Given the description of an element on the screen output the (x, y) to click on. 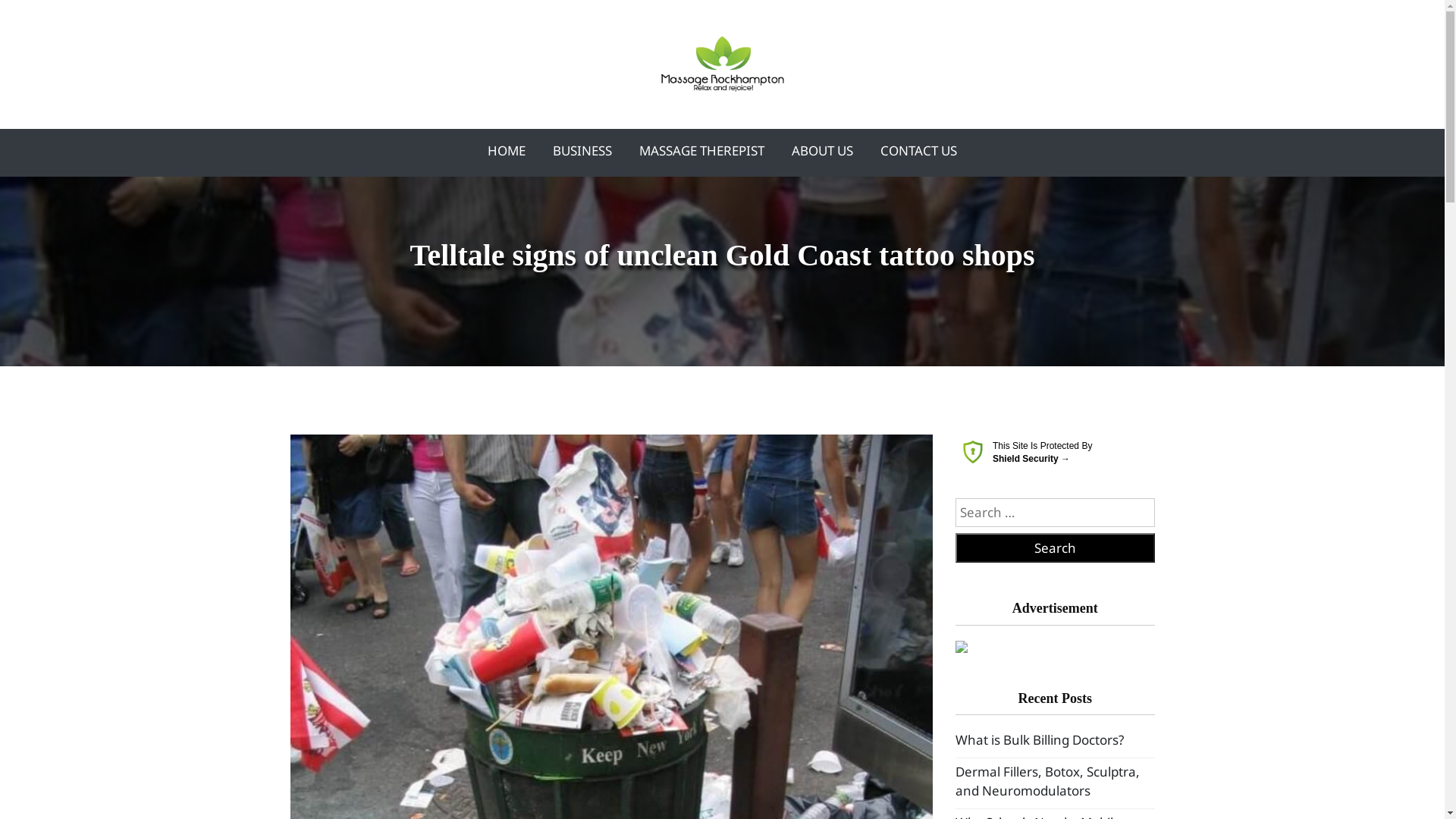
Search Element type: text (1054, 548)
ABOUT US Element type: text (822, 150)
Dermal Fillers, Botox, Sculptra, and Neuromodulators Element type: text (1047, 781)
HOME Element type: text (506, 150)
MASSAGE THEREPIST Element type: text (701, 150)
BUSINESS Element type: text (582, 150)
What is Bulk Billing Doctors? Element type: text (1039, 739)
CONTACT US Element type: text (918, 150)
